Given the description of an element on the screen output the (x, y) to click on. 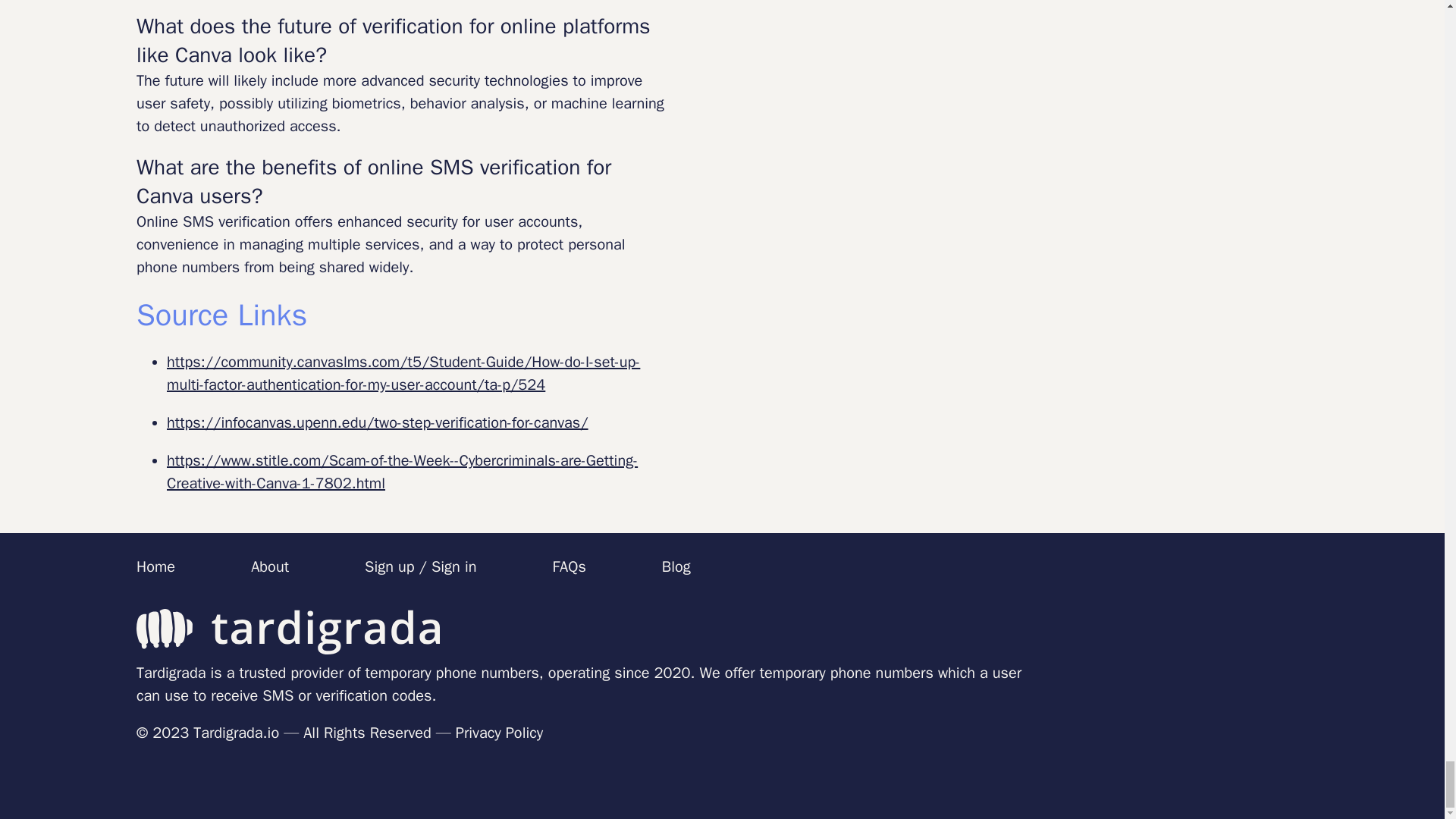
About (269, 566)
FAQs (568, 566)
Privacy Policy (499, 732)
Home (155, 566)
Blog (676, 566)
